Given the description of an element on the screen output the (x, y) to click on. 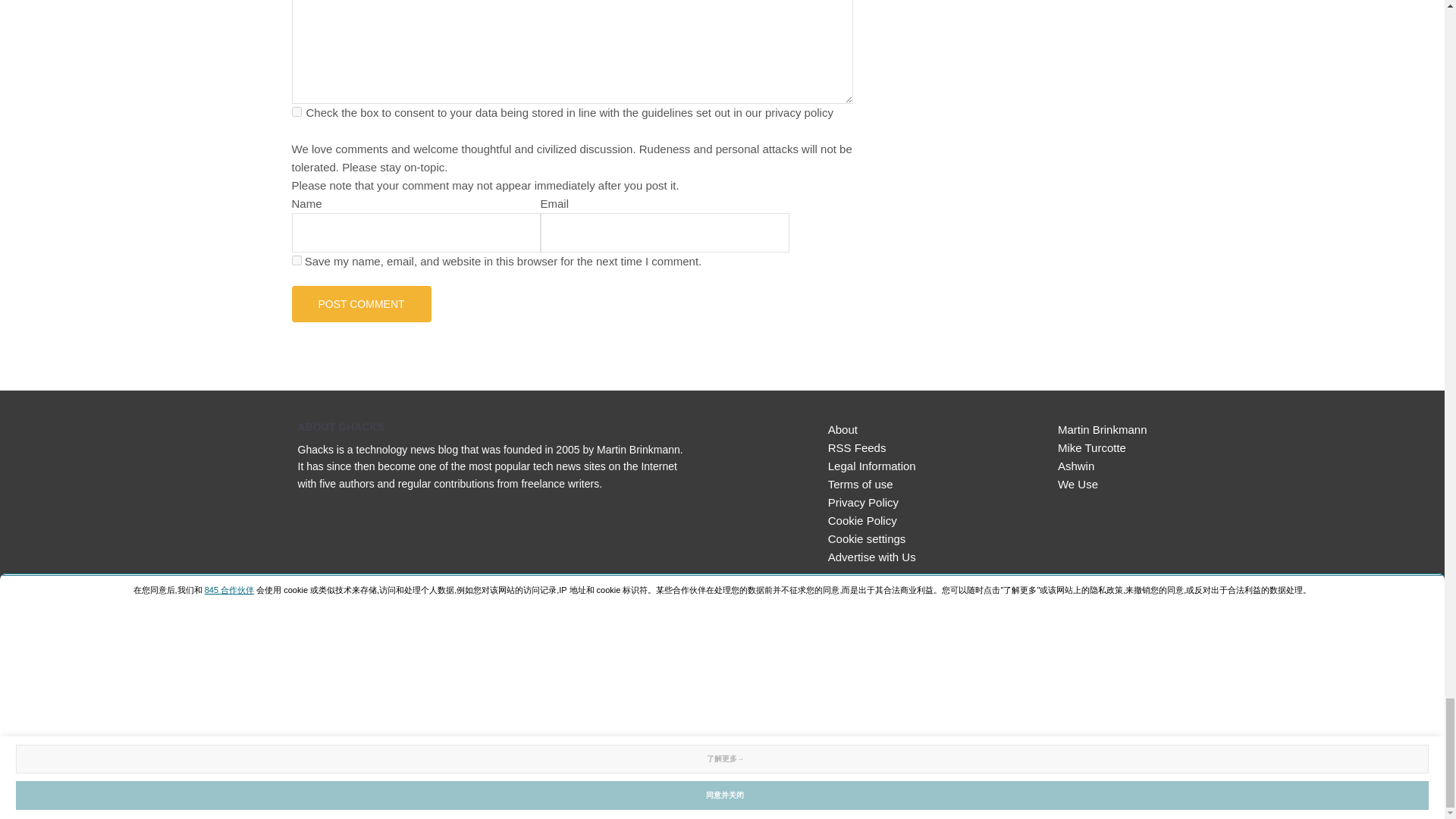
privacy-key (296, 112)
Post Comment (360, 303)
yes (296, 260)
